Given the description of an element on the screen output the (x, y) to click on. 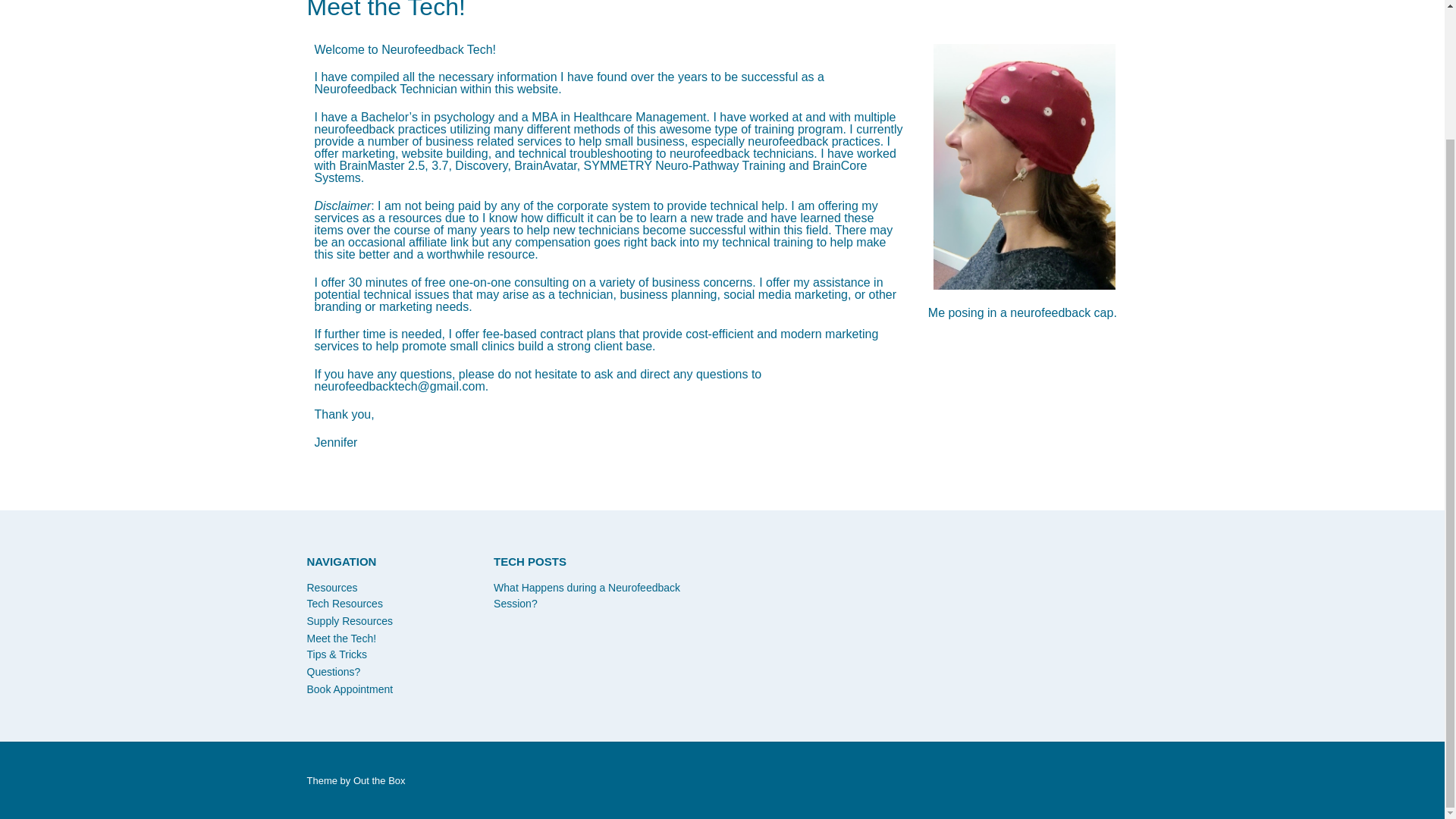
Supply Resources (349, 621)
Book Appointment (349, 689)
Resources (330, 587)
What Happens during a Neurofeedback Session? (586, 595)
Tech Resources (343, 603)
Out the Box (379, 780)
Questions? (332, 671)
Meet the Tech! (340, 638)
